Given the description of an element on the screen output the (x, y) to click on. 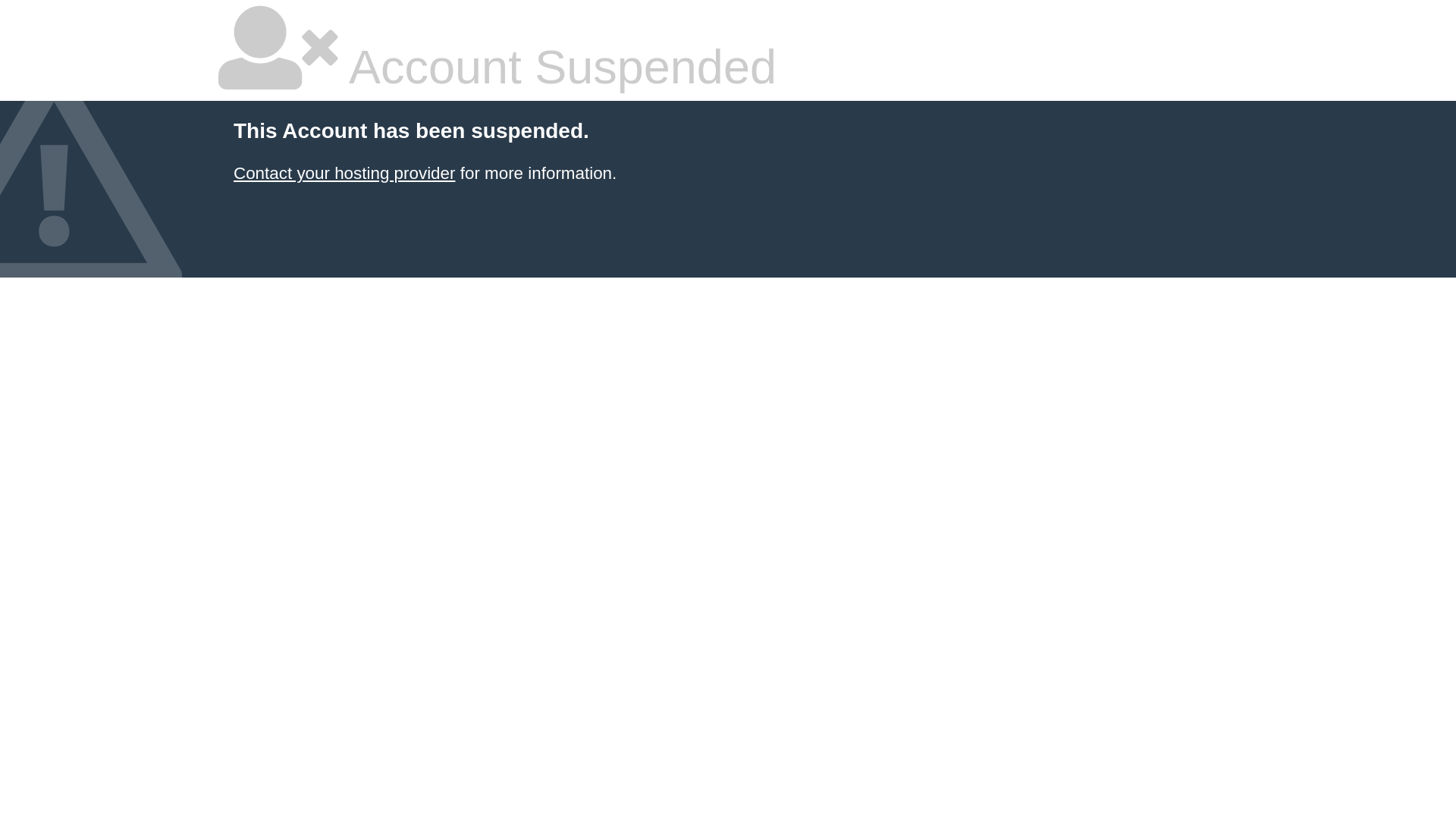
Contact your hosting provider Element type: text (344, 172)
